Given the description of an element on the screen output the (x, y) to click on. 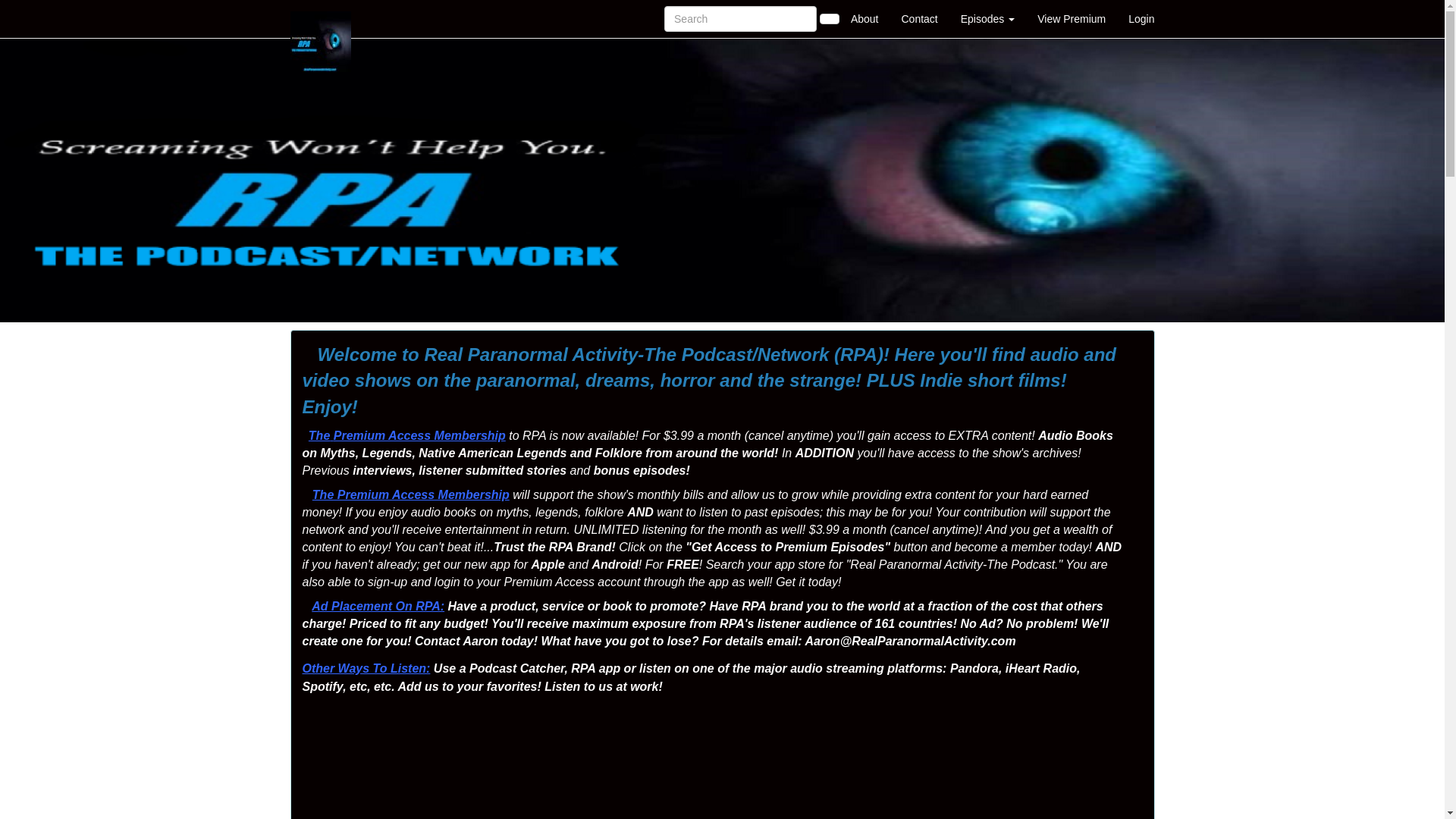
Contact (919, 18)
About (864, 18)
Episodes (987, 18)
Home Page (320, 18)
